Given the description of an element on the screen output the (x, y) to click on. 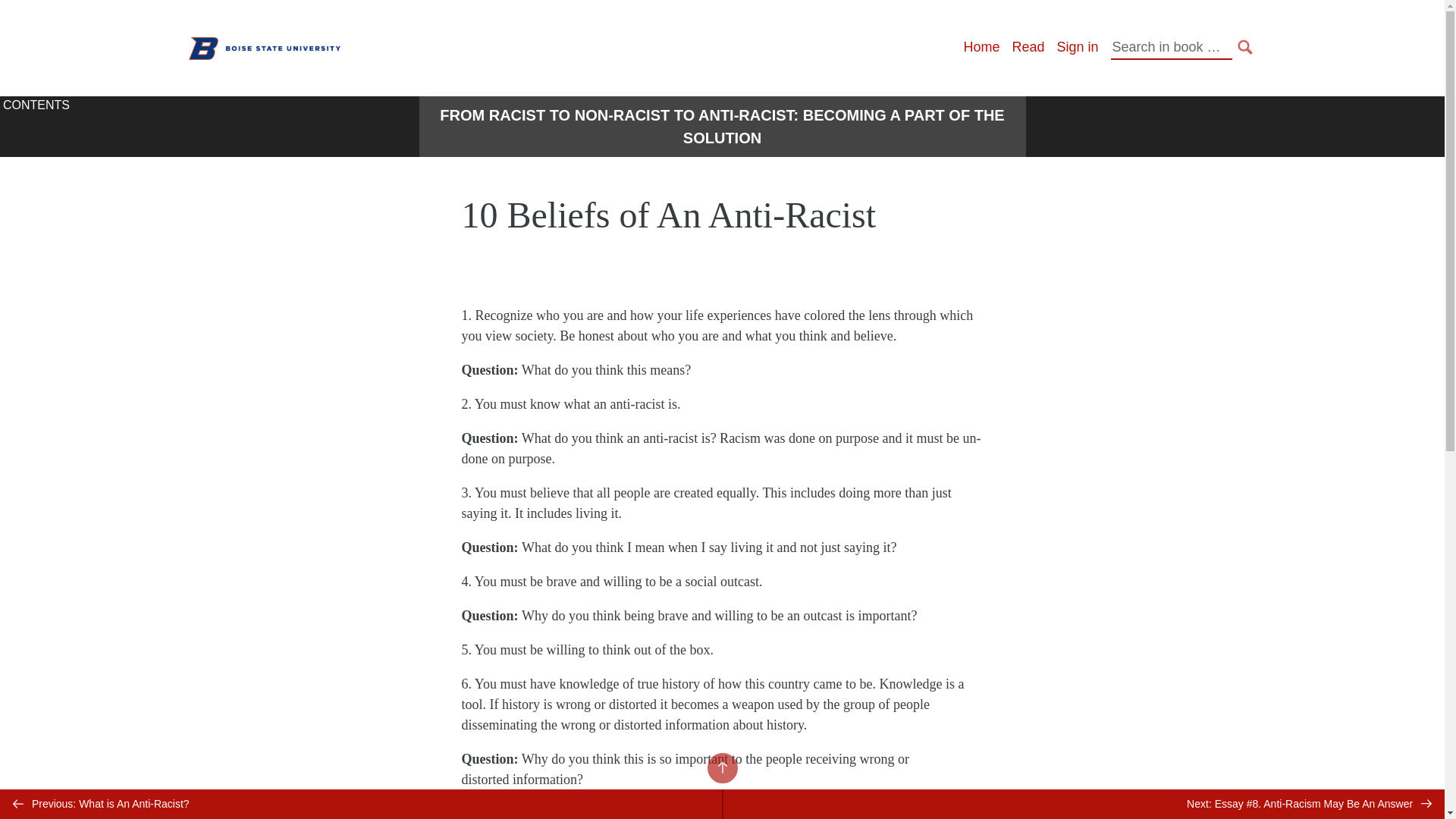
Previous: What is An Anti-Racist? (361, 804)
Previous: What is An Anti-Racist? (361, 804)
Read (1027, 46)
Home (980, 46)
BACK TO TOP (721, 767)
Sign in (1077, 46)
